Given the description of an element on the screen output the (x, y) to click on. 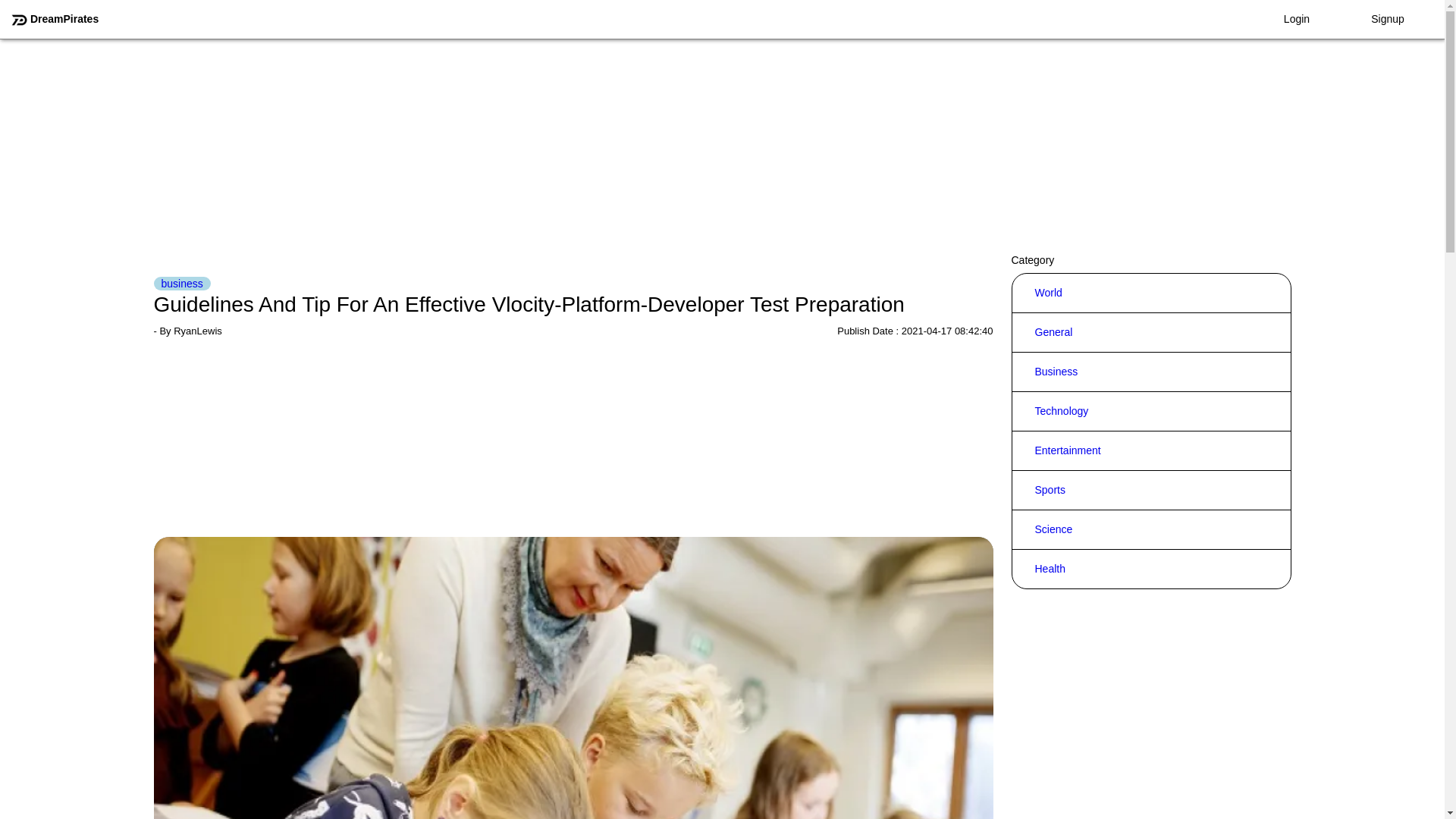
Signup (1387, 19)
Entertainment (1067, 450)
DreamPirates (55, 19)
business (181, 283)
Health (1050, 568)
3rd party ad content (573, 442)
3rd party ad content (572, 143)
Technology (1061, 410)
3rd party ad content (1150, 143)
Business (1056, 371)
